Given the description of an element on the screen output the (x, y) to click on. 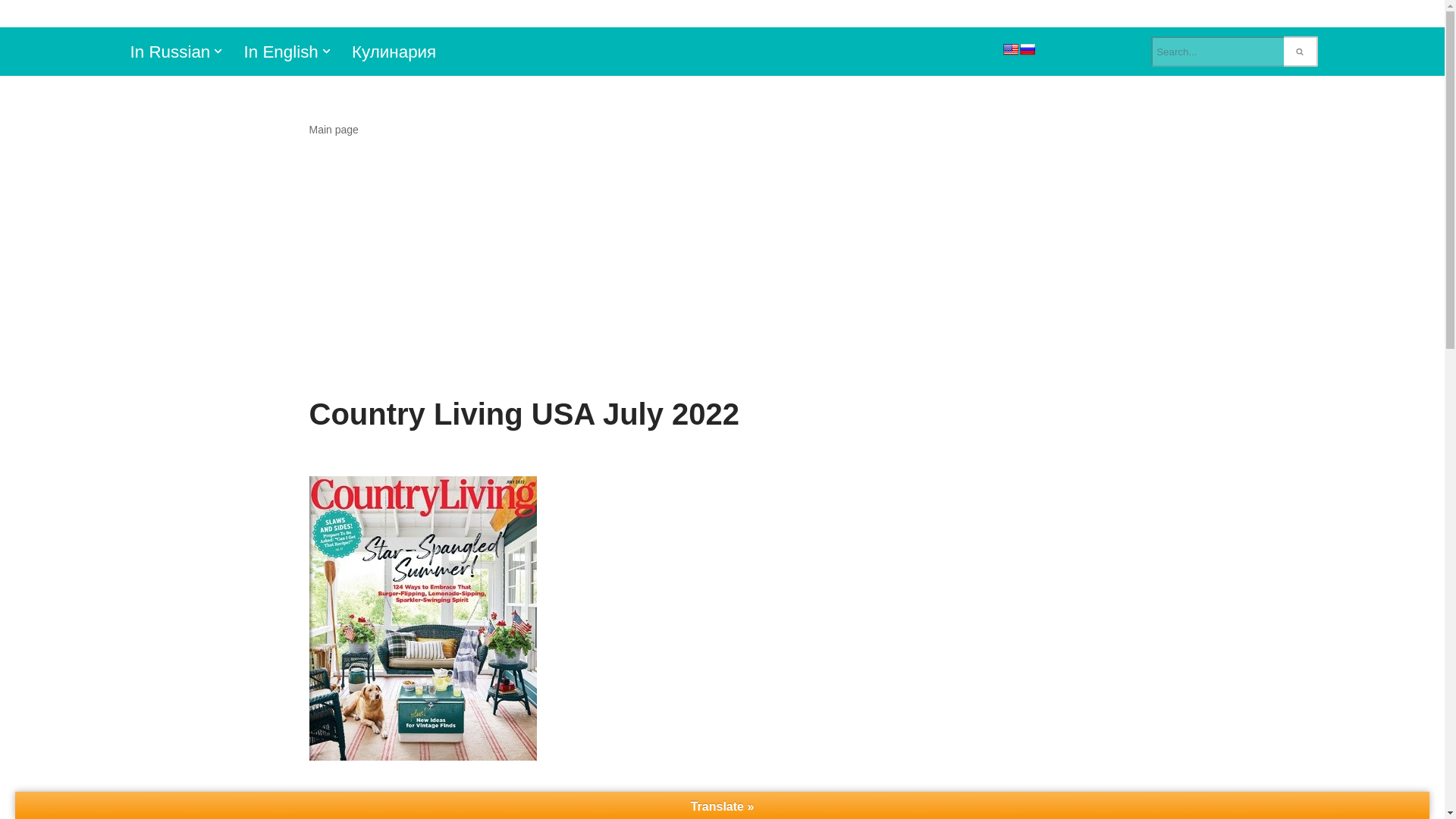
Russian (1026, 49)
In Russian (171, 51)
English (1010, 49)
In English (280, 51)
